Given the description of an element on the screen output the (x, y) to click on. 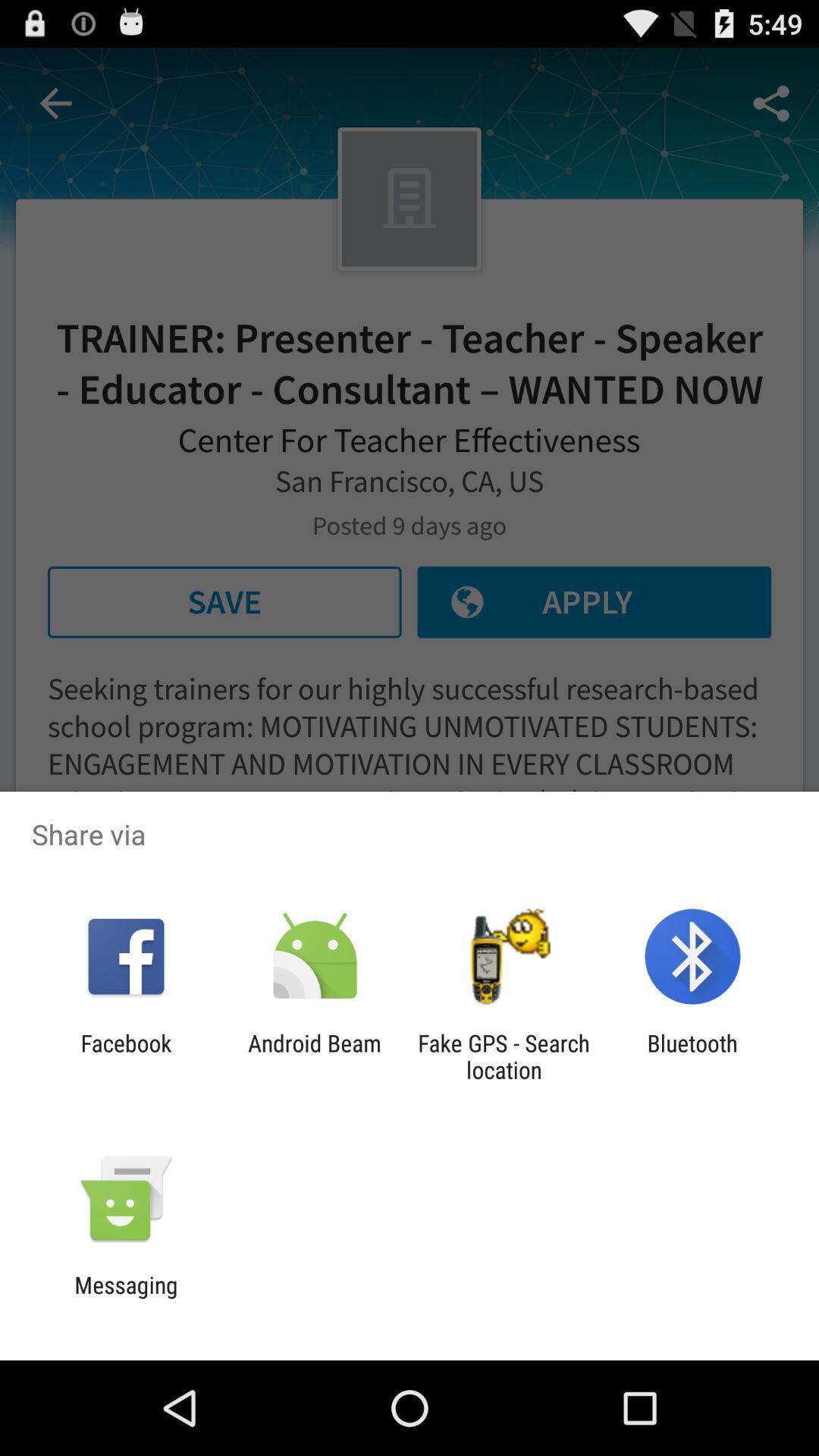
launch icon to the left of the bluetooth icon (503, 1056)
